Given the description of an element on the screen output the (x, y) to click on. 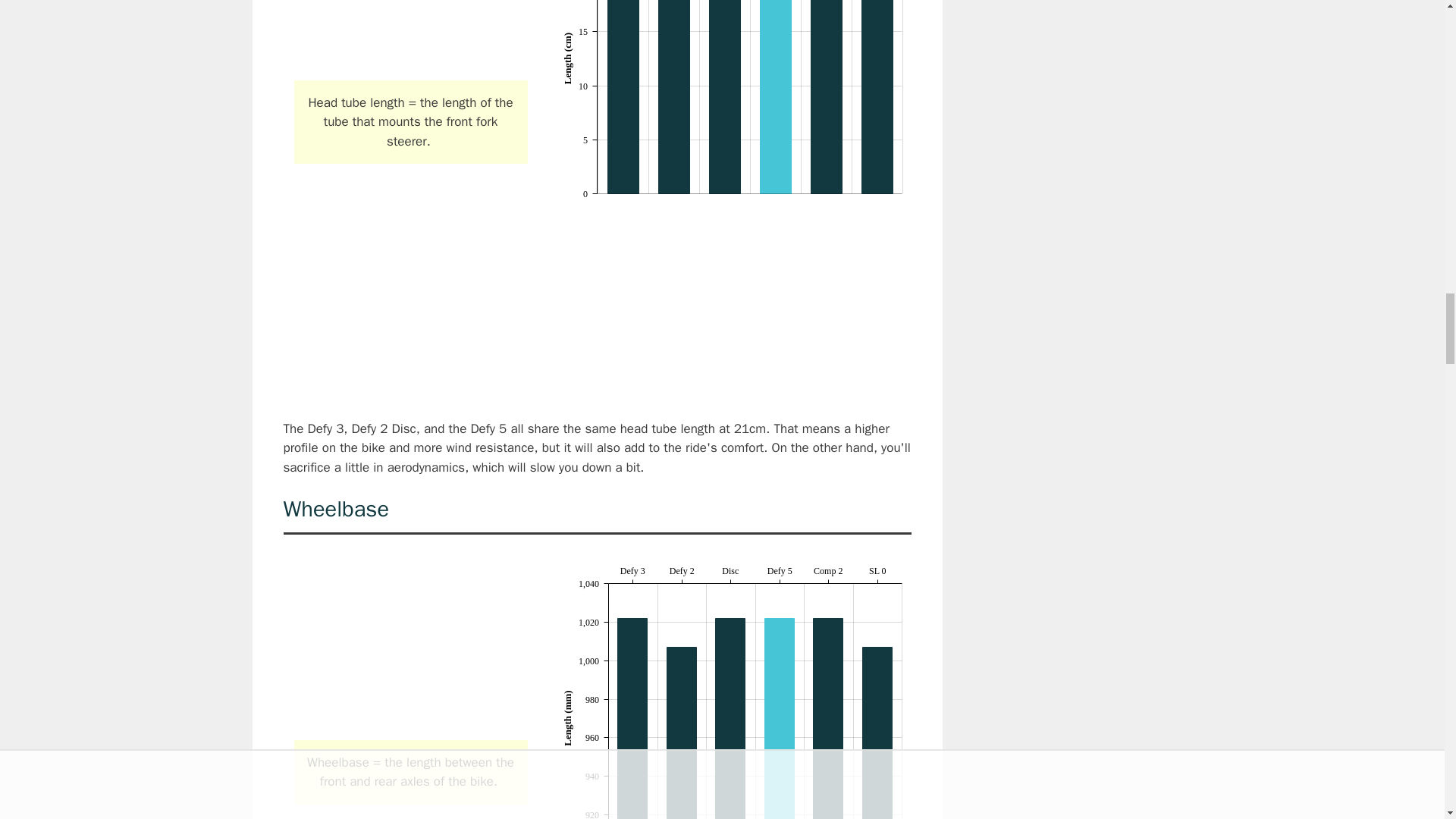
Wheelbase (410, 646)
Head Tube Length (410, 32)
